Given the description of an element on the screen output the (x, y) to click on. 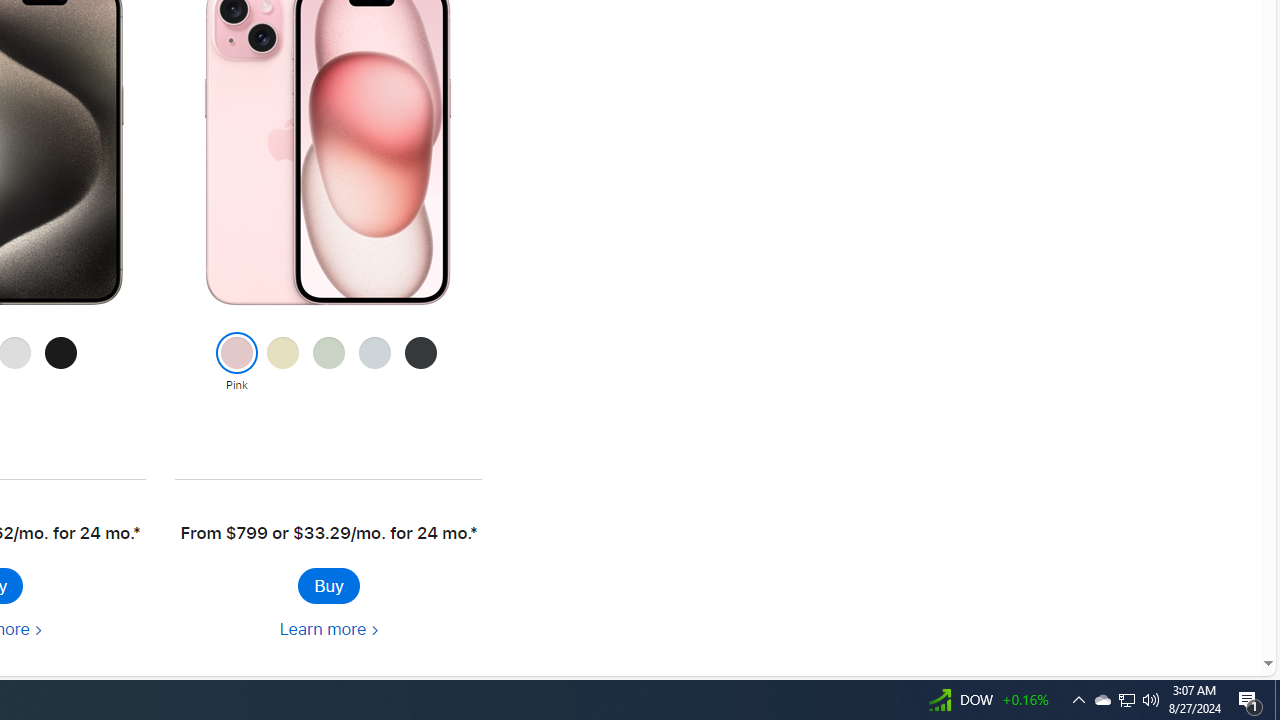
Green (328, 363)
Class: colornav-link (420, 353)
Black Titanium (61, 363)
Learn more about iPhone 15 (328, 629)
Buy iPhone 15 (328, 585)
Footnote * symbol (472, 533)
Black (420, 363)
Pink (236, 363)
Blue (374, 363)
Yellow (282, 363)
Class: colornav-link current (236, 353)
